Given the description of an element on the screen output the (x, y) to click on. 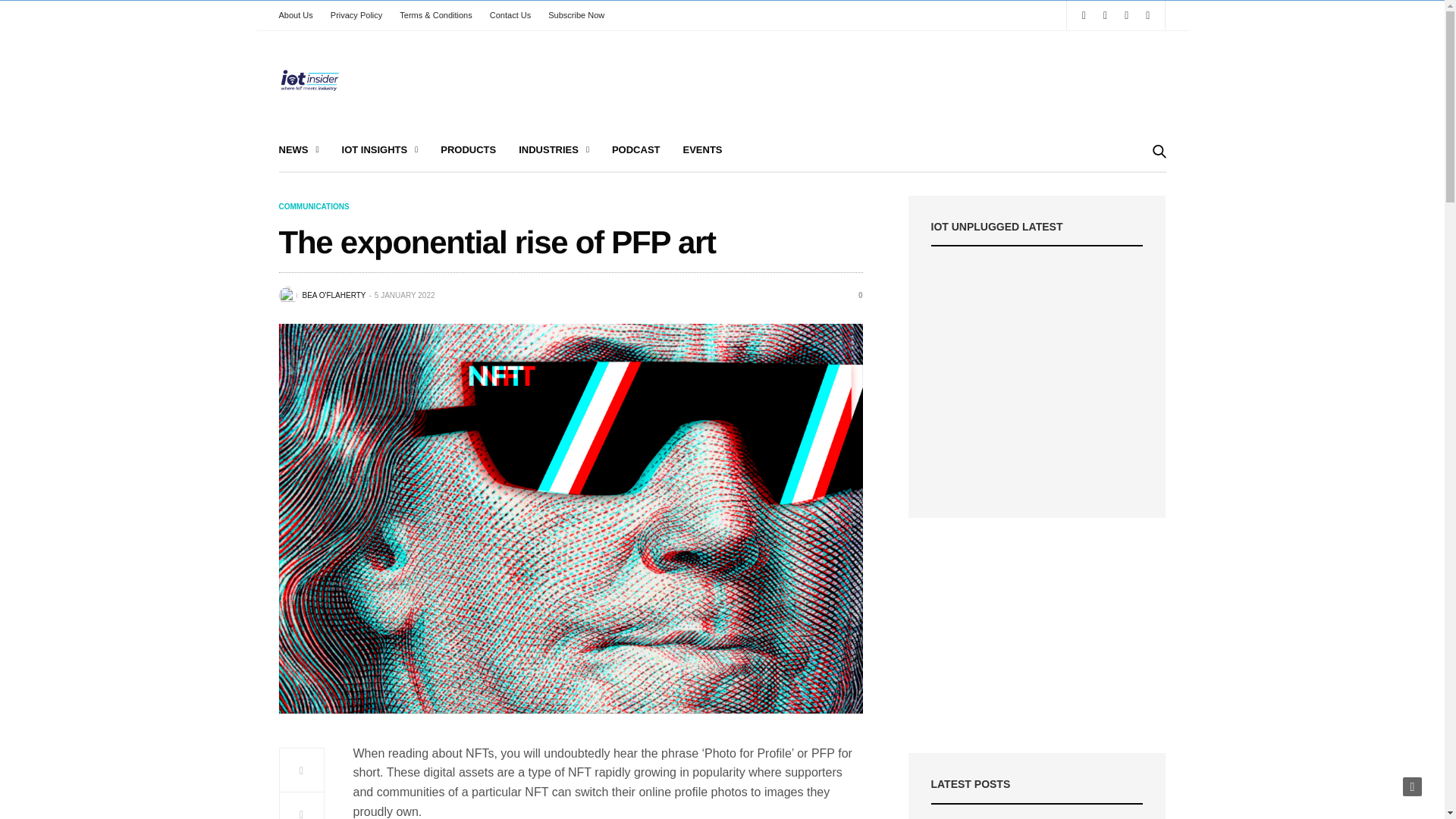
PRODUCTS (468, 150)
NEWS (298, 150)
About Us (299, 15)
Communications (314, 206)
Search (1137, 192)
PODCAST (636, 150)
COMMUNICATIONS (314, 206)
The exponential rise of PFP art (853, 295)
EVENTS (702, 150)
IOT INSIGHTS (380, 150)
